Given the description of an element on the screen output the (x, y) to click on. 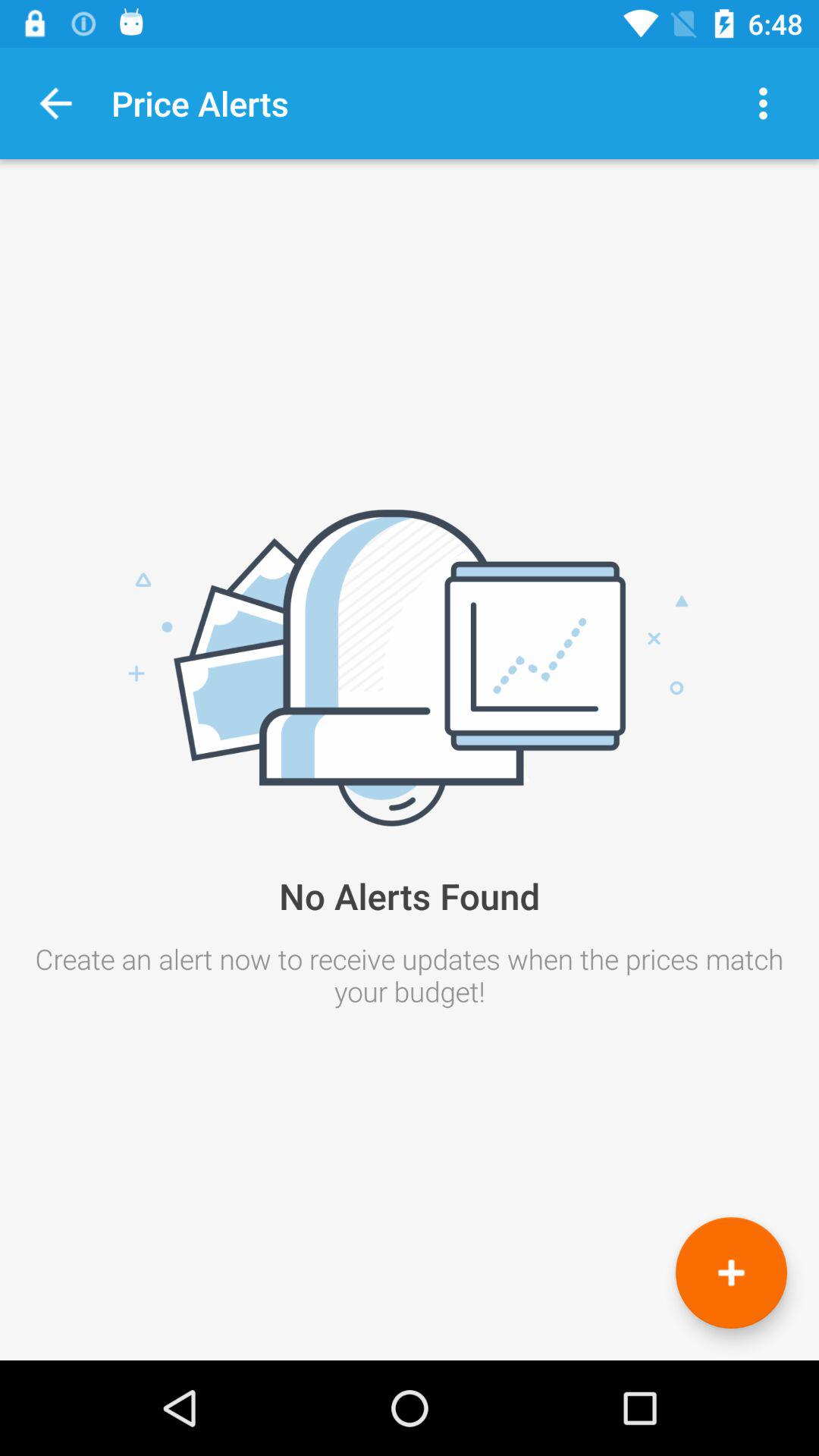
select the icon at the top left corner (55, 103)
